Given the description of an element on the screen output the (x, y) to click on. 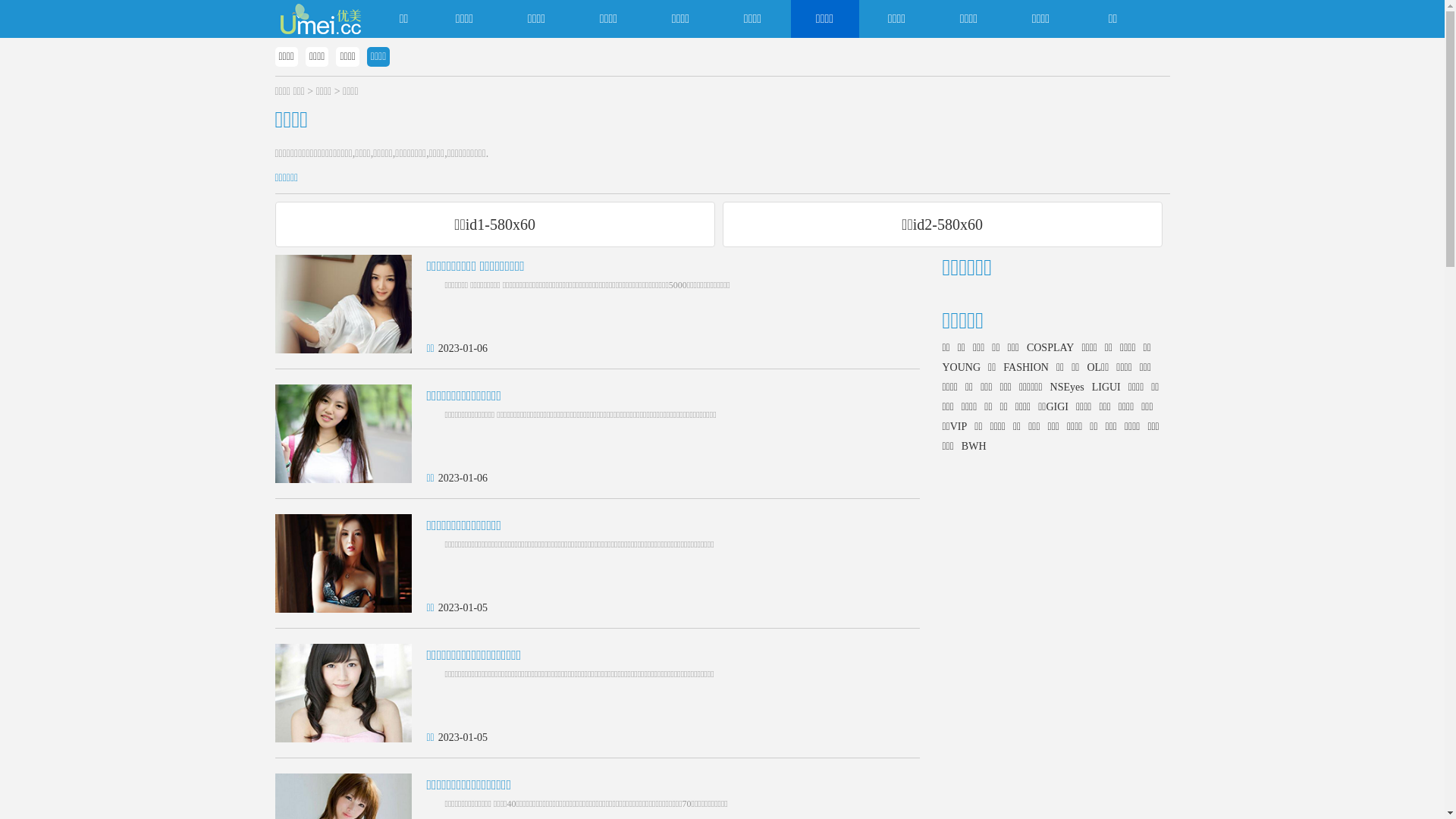
NSEyes Element type: text (1071, 387)
YOUNG Element type: text (964, 367)
BWH Element type: text (977, 446)
COSPLAY Element type: text (1054, 347)
LIGUI Element type: text (1110, 387)
FASHION Element type: text (1029, 367)
